Given the description of an element on the screen output the (x, y) to click on. 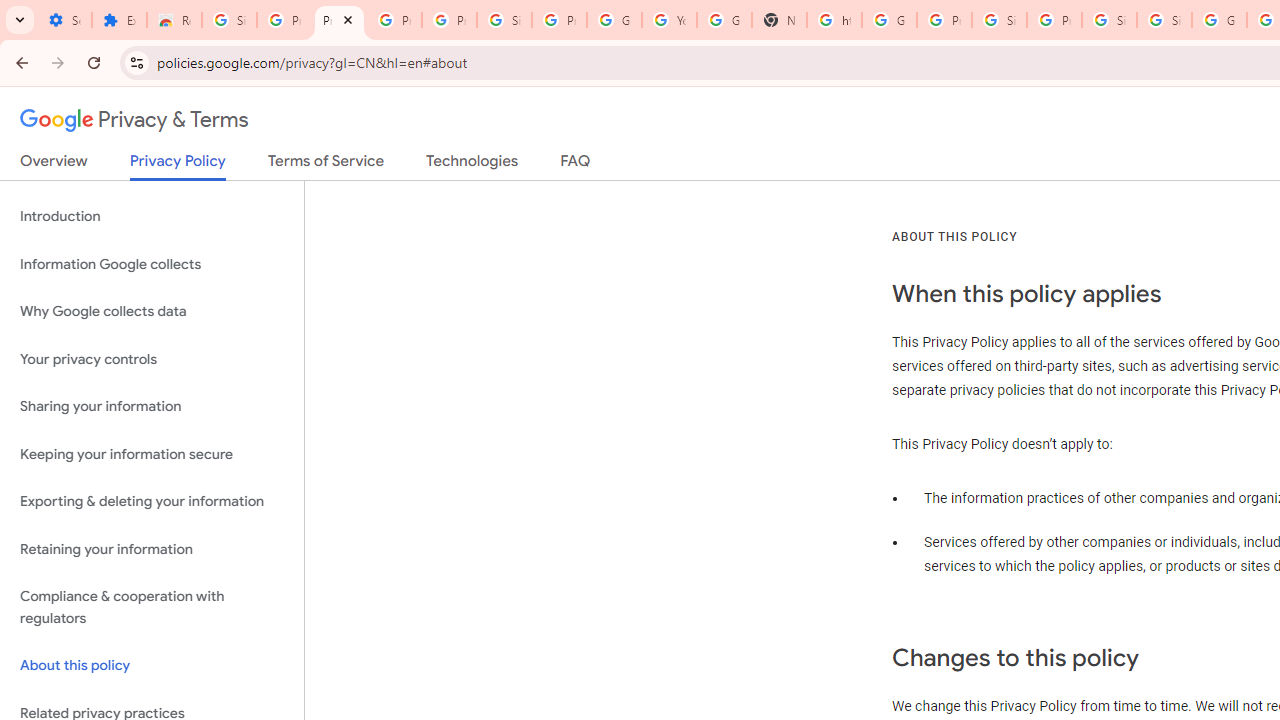
New Tab (779, 20)
Sharing your information (152, 407)
Sign in - Google Accounts (1163, 20)
Retaining your information (152, 548)
Sign in - Google Accounts (504, 20)
Google Account (614, 20)
Compliance & cooperation with regulators (152, 607)
